Given the description of an element on the screen output the (x, y) to click on. 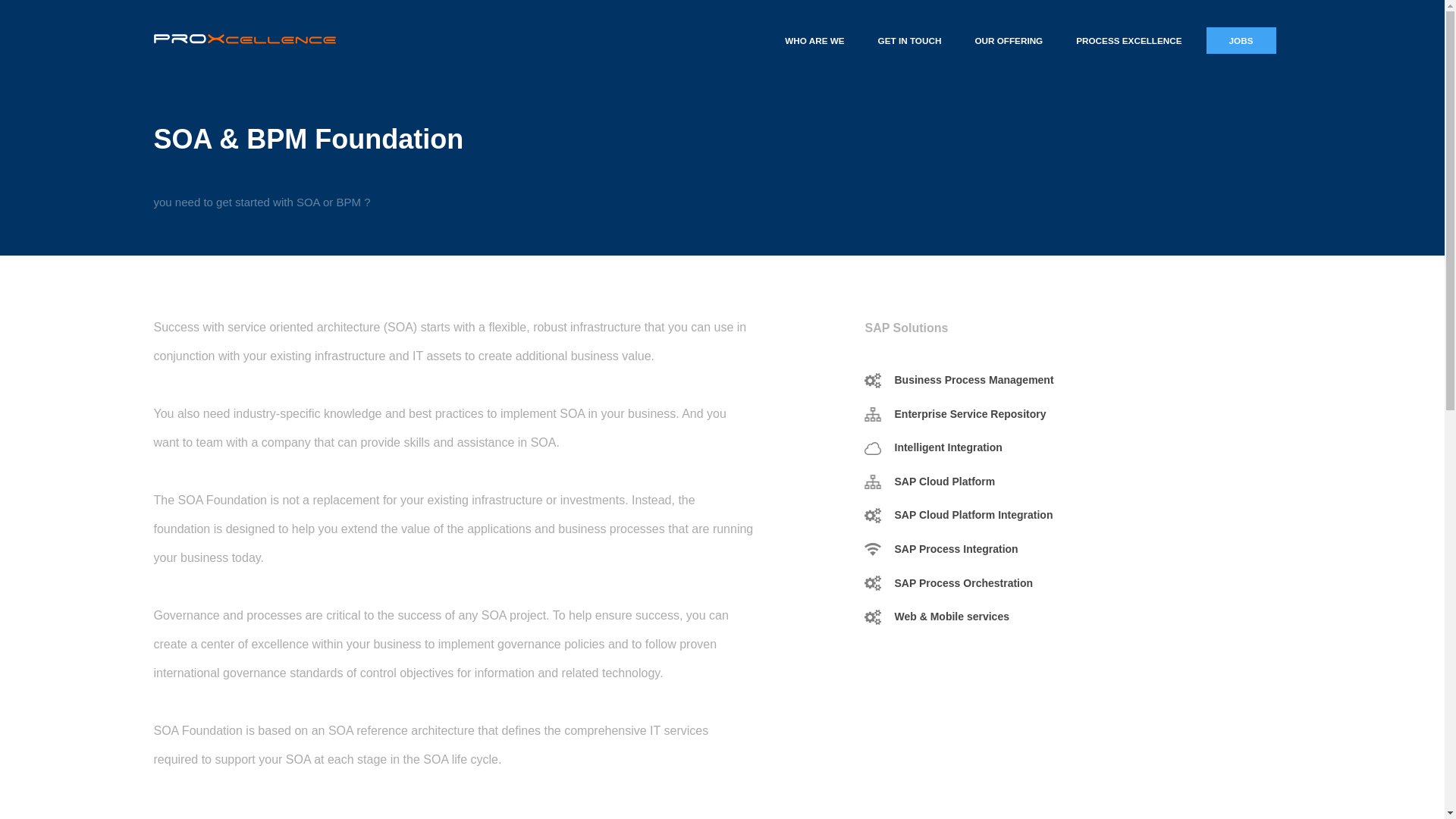
SAP Cloud Platform (945, 481)
SAP Process Integration (956, 548)
WHO ARE WE (814, 40)
SAP Cloud Platform Integration (973, 514)
Business Process Management (974, 379)
Intelligent Integration (949, 447)
GET IN TOUCH (909, 40)
SAP Process Orchestration (964, 582)
PROCESS EXCELLENCE (1127, 40)
Enterprise Service Repository (970, 413)
JOBS (1240, 40)
OUR OFFERING (1008, 40)
